Given the description of an element on the screen output the (x, y) to click on. 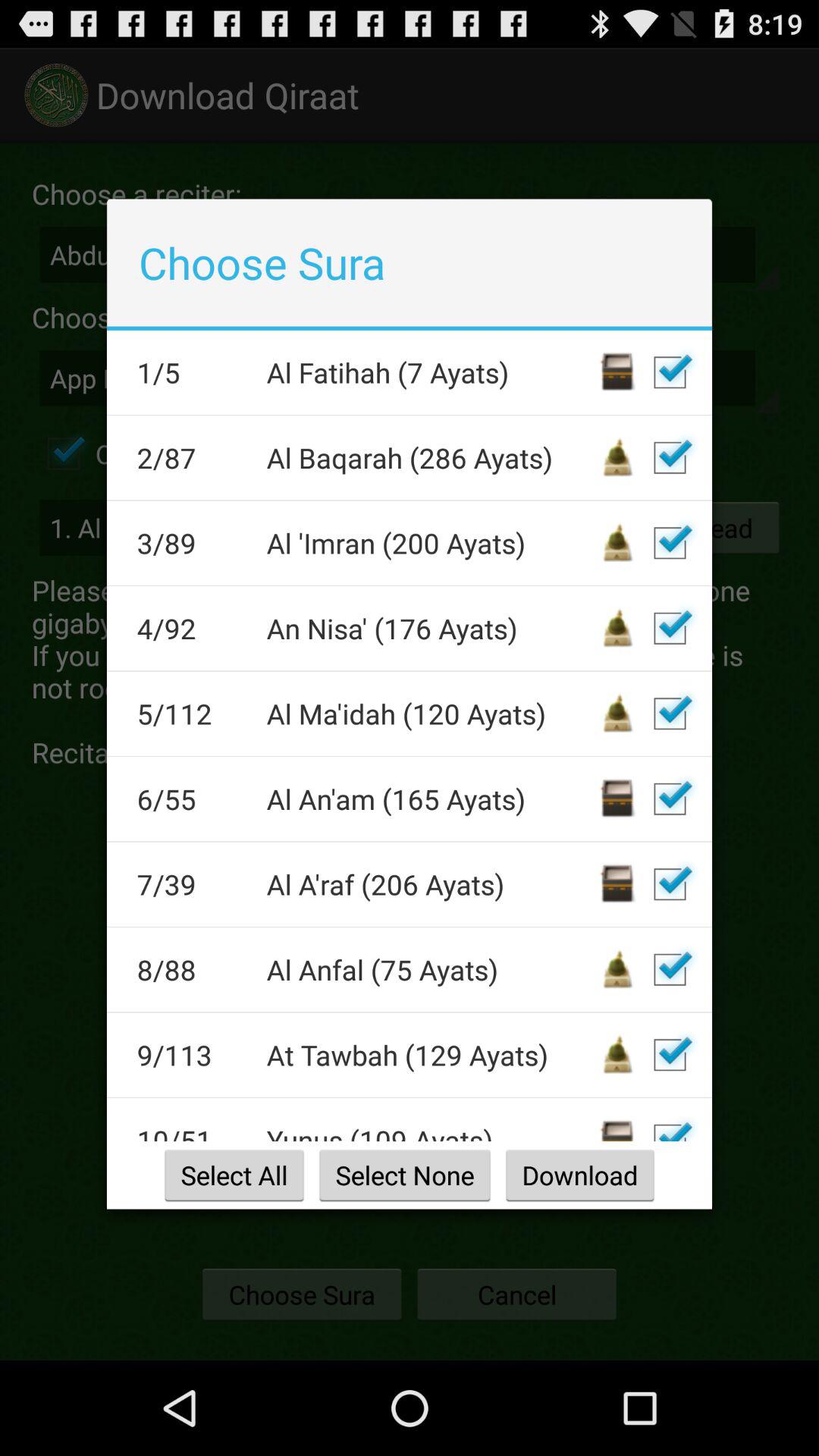
open the icon next to the 8/88 icon (430, 969)
